Given the description of an element on the screen output the (x, y) to click on. 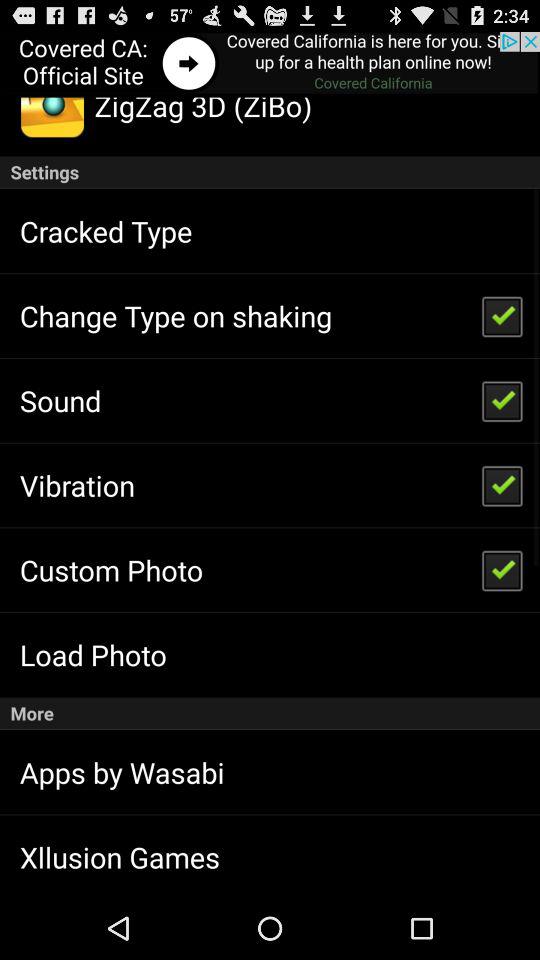
go front (270, 64)
